Given the description of an element on the screen output the (x, y) to click on. 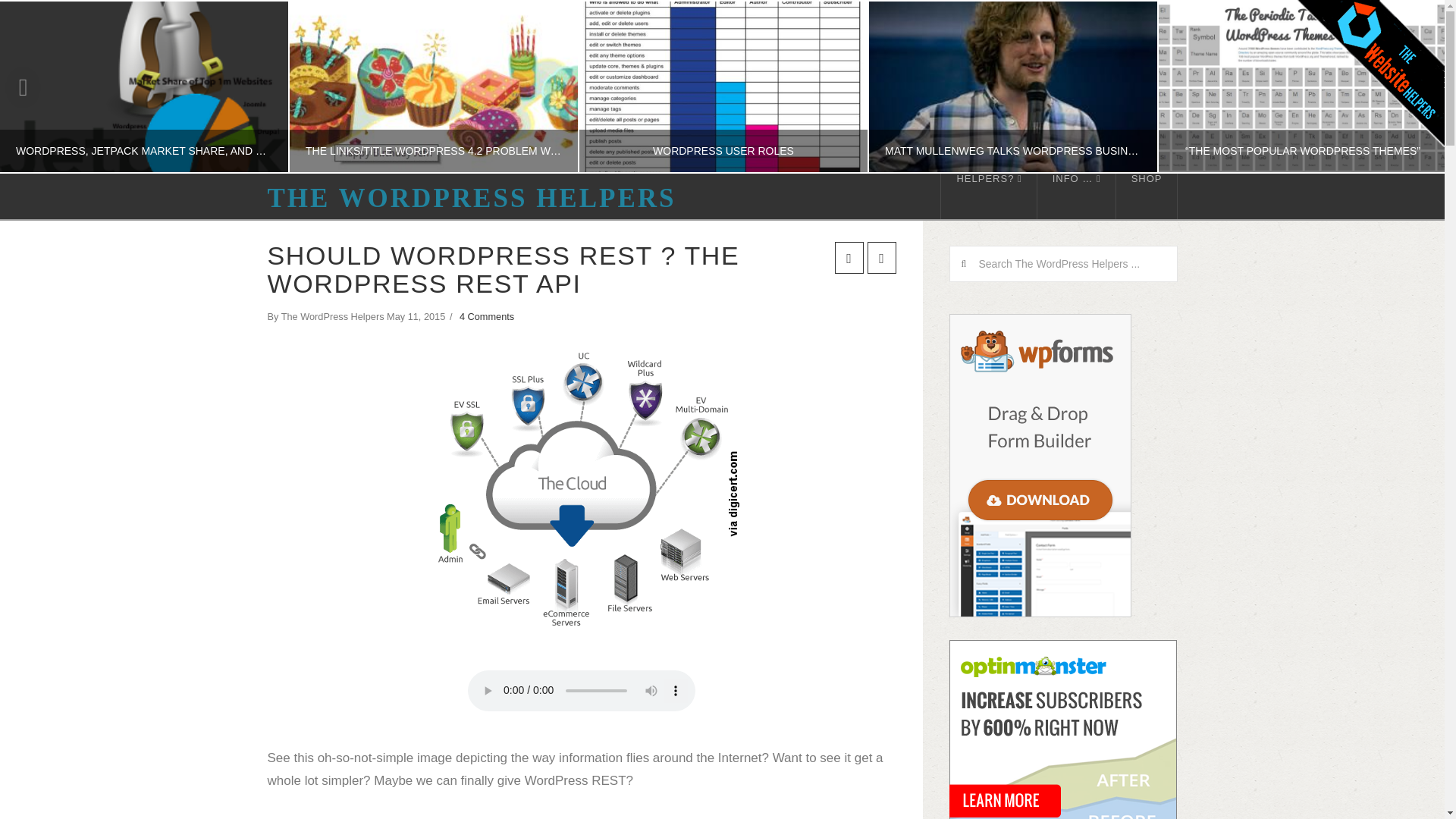
WORDPRESS USER ROLES (722, 86)
THE WORDPRESS HELPERS (470, 198)
WORDPRESS, JETPACK MARKET SHARE, AND BIG BROTHER (144, 86)
MATT MULLENWEG TALKS WORDPRESS BUSINESS DECISIONS (1012, 86)
HELPERS? (988, 196)
Get WordPress Help. Make WordPress Work. (470, 198)
The WordPress REST API (582, 490)
